Given the description of an element on the screen output the (x, y) to click on. 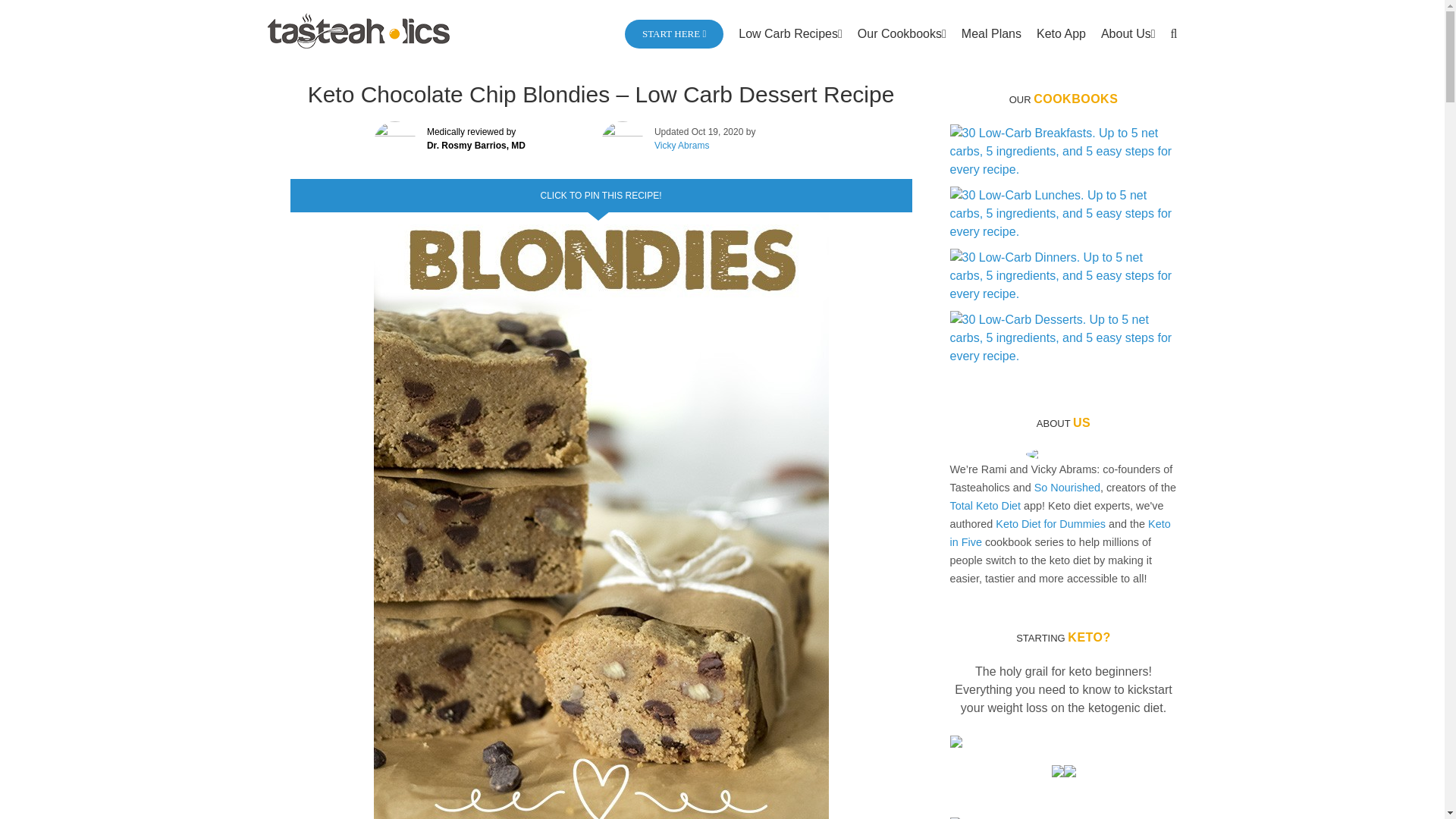
Search (1173, 32)
Our Cookbooks (901, 32)
Low Carb Recipes (790, 32)
START HERE (673, 32)
Posts by Vicky Abrams (681, 145)
